Given the description of an element on the screen output the (x, y) to click on. 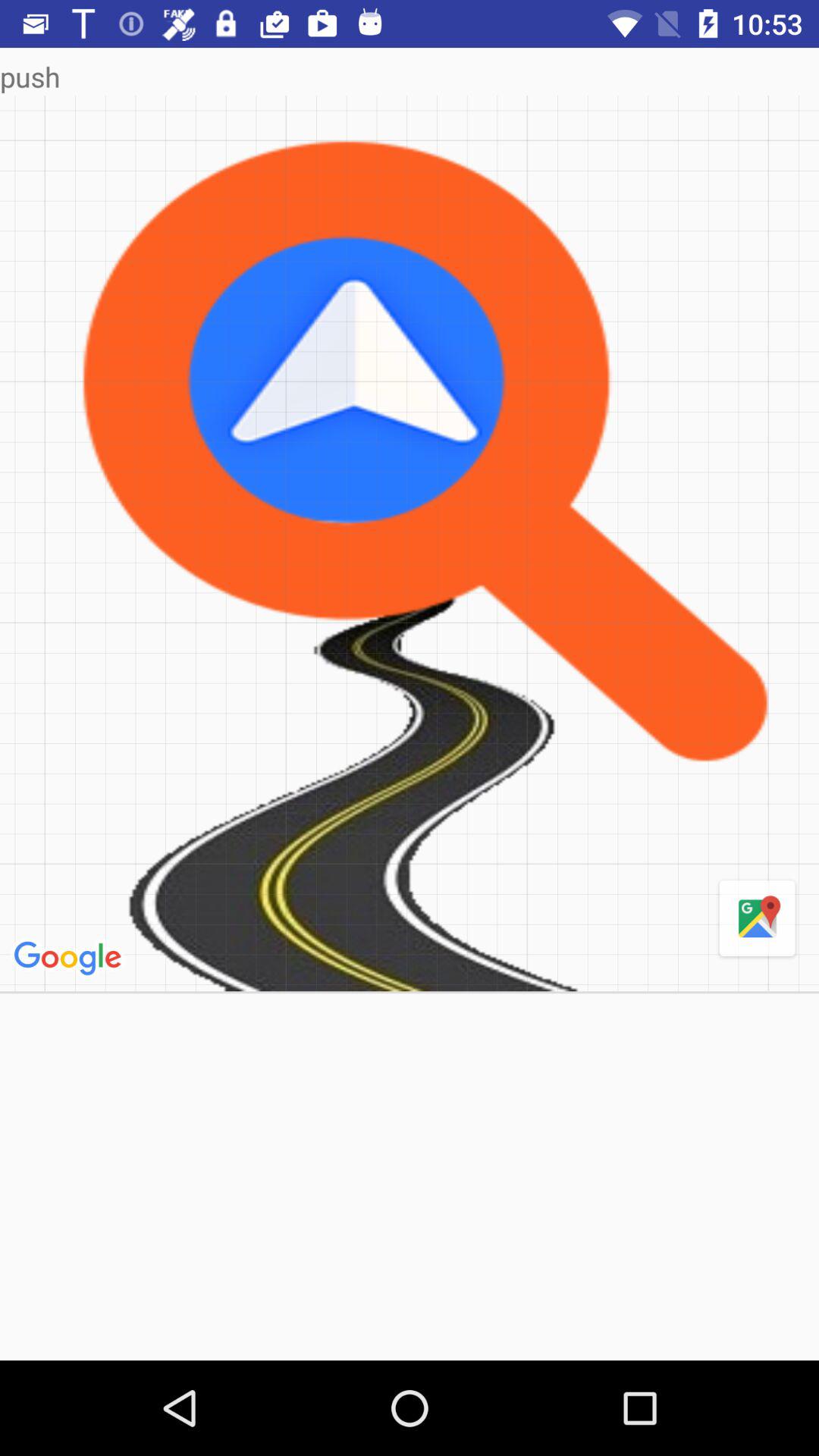
click push icon (409, 76)
